Given the description of an element on the screen output the (x, y) to click on. 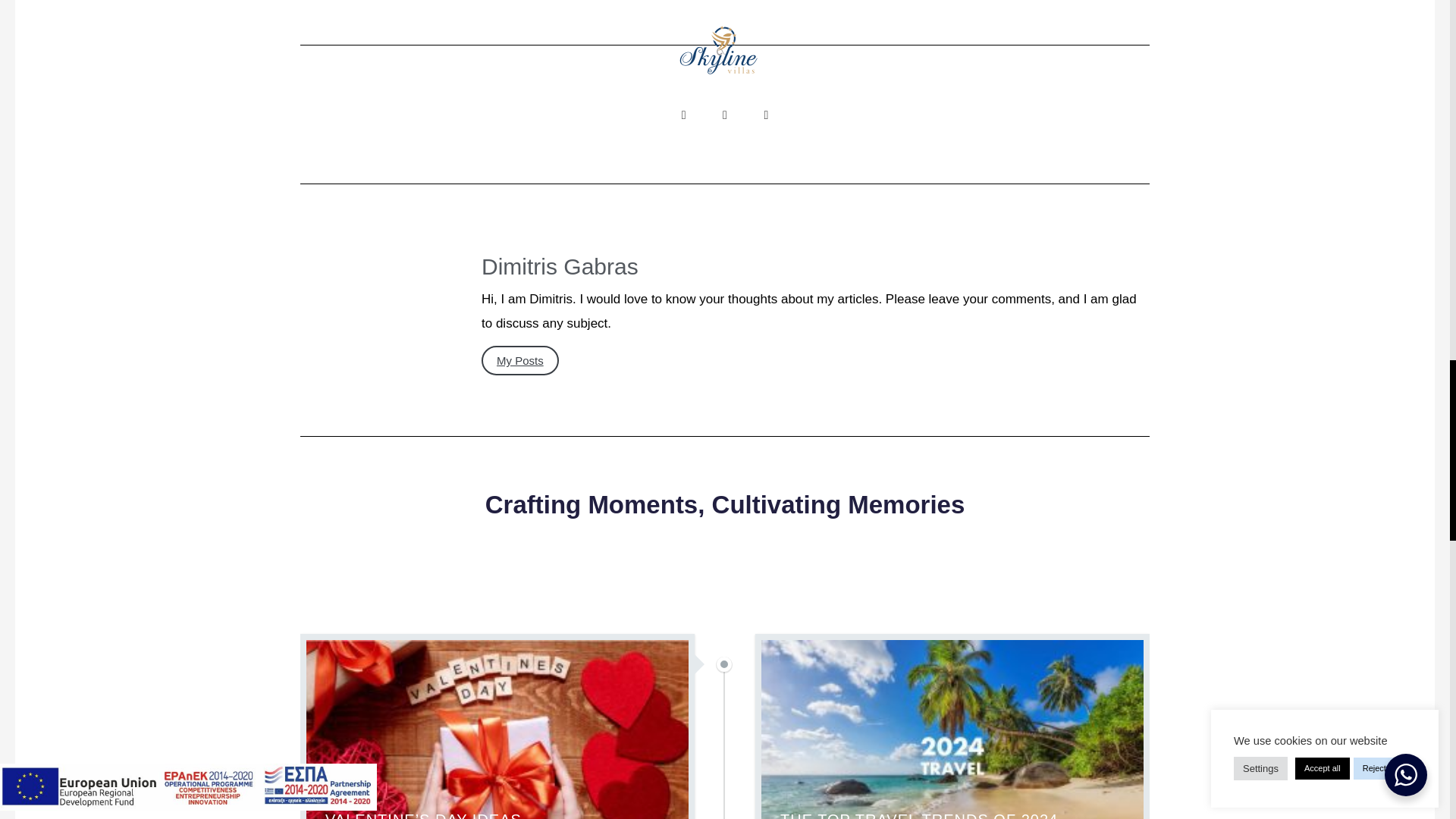
The Top Travel Trends of 2024 (951, 729)
NaxosSkyline, Naxos, Cyclades, Greece, 84300 (1189, 21)
